Given the description of an element on the screen output the (x, y) to click on. 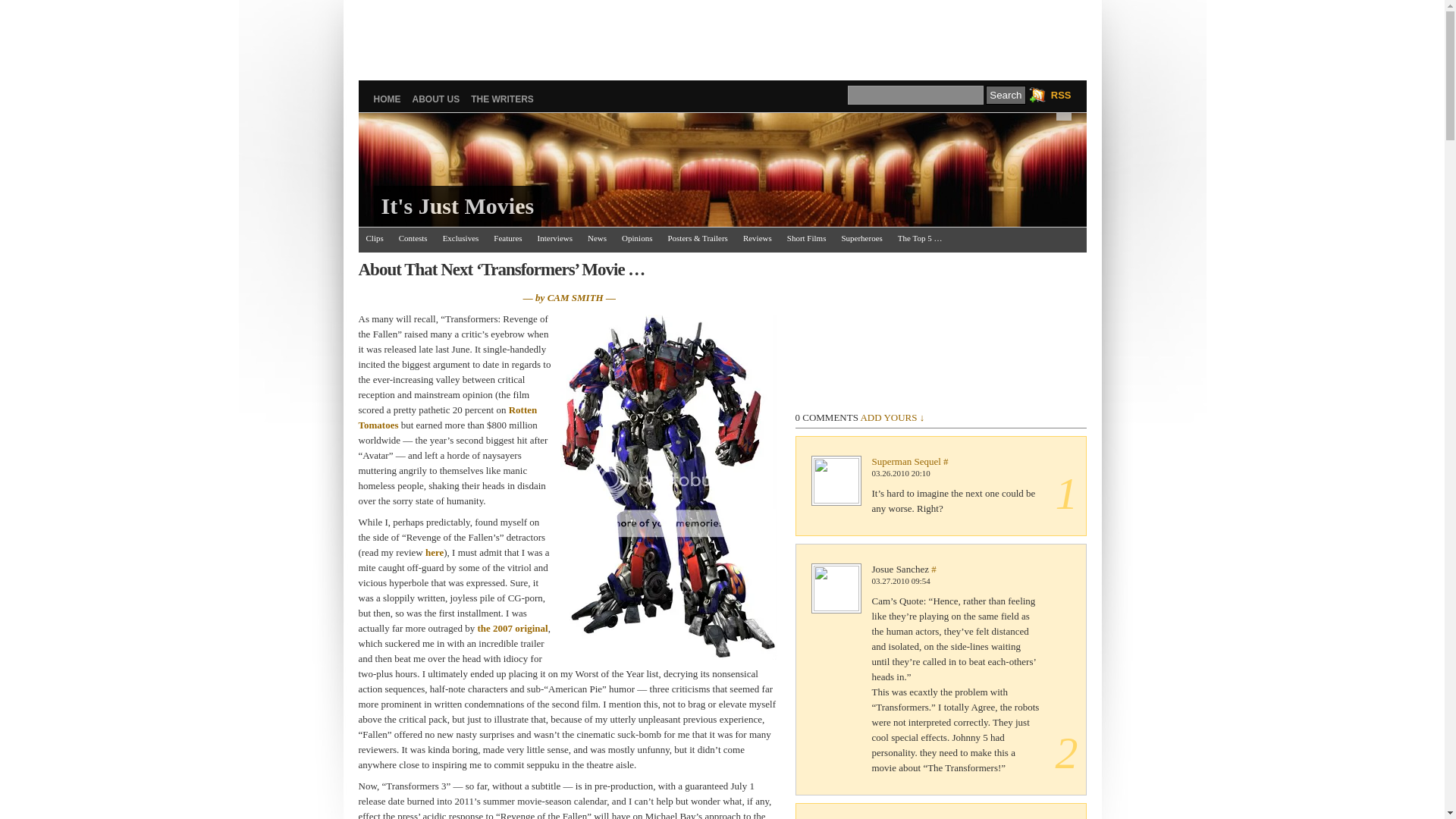
Short Films (806, 239)
Search (1005, 94)
ABOUT US (436, 99)
RSS (1049, 94)
Search (1005, 94)
HOME (386, 99)
Rotten Tomatoes (447, 417)
Home (386, 99)
News (596, 239)
It's Just Movies RSS Feed (1049, 94)
